Given the description of an element on the screen output the (x, y) to click on. 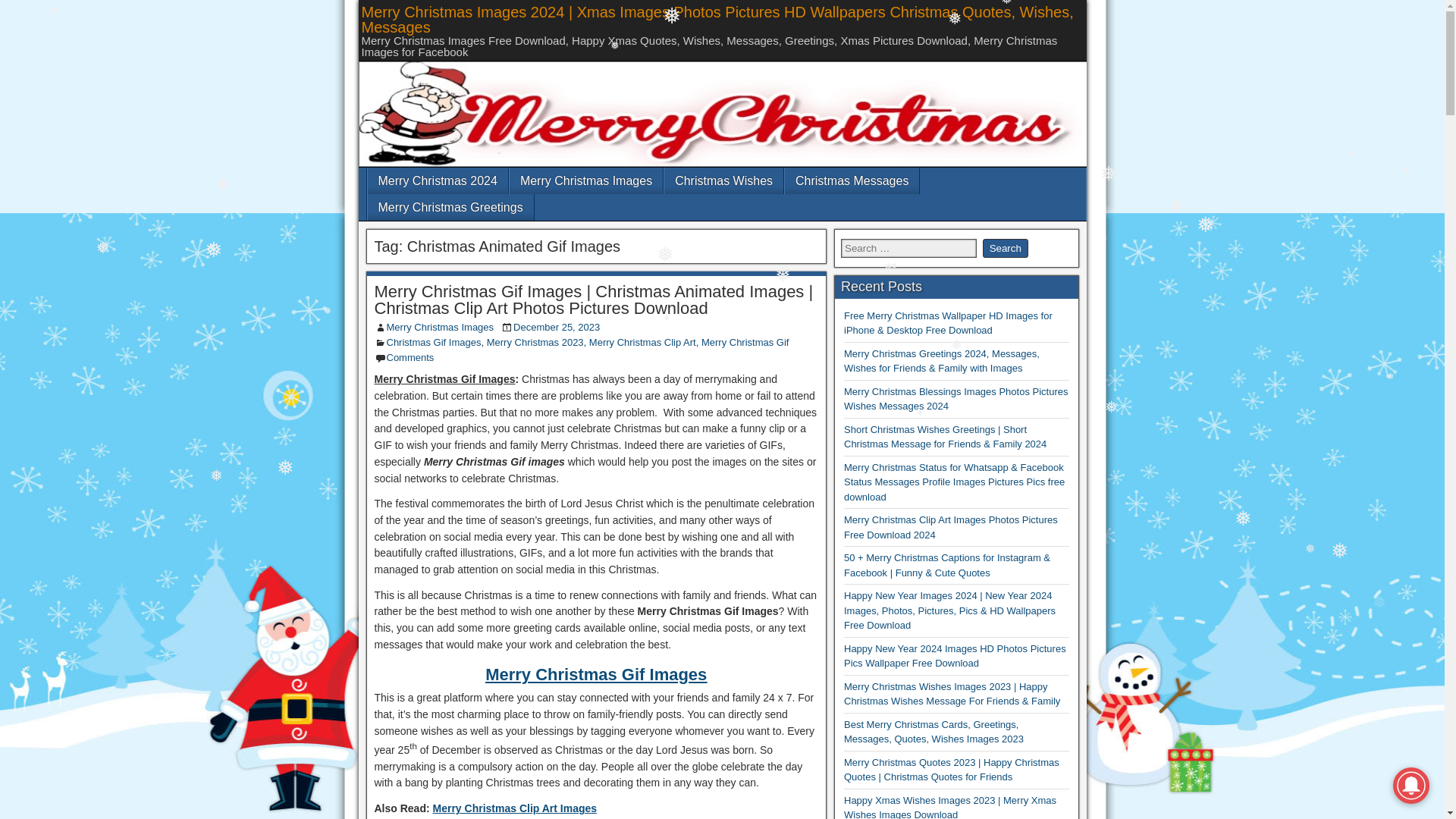
December 25, 2023 (556, 326)
Merry Christmas Images (585, 180)
Merry Christmas 2024 (436, 180)
Christmas Messages (851, 180)
Search (1004, 248)
Merry Christmas 2023 (534, 342)
Comments (410, 357)
Merry Christmas Greetings (449, 207)
Search (1004, 248)
Christmas Wishes (723, 180)
Merry Christmas Gif (745, 342)
Merry Christmas Clip Art (642, 342)
Merry Christmas Clip Art Images (514, 808)
Merry Christmas Images (441, 326)
